Given the description of an element on the screen output the (x, y) to click on. 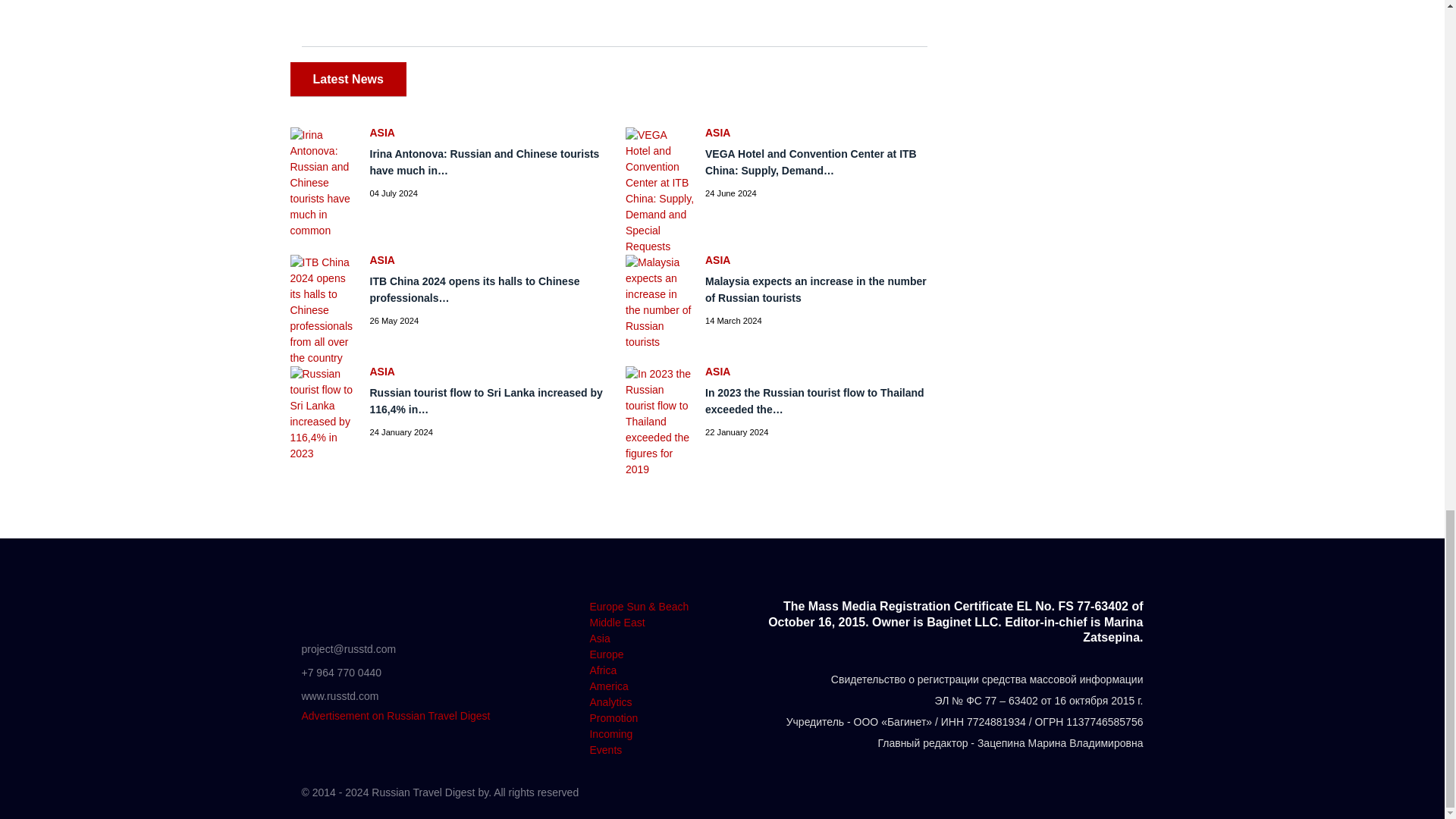
ASIA (486, 259)
ASIA (821, 132)
ASIA (821, 259)
ASIA (486, 132)
ASIA (486, 371)
